Given the description of an element on the screen output the (x, y) to click on. 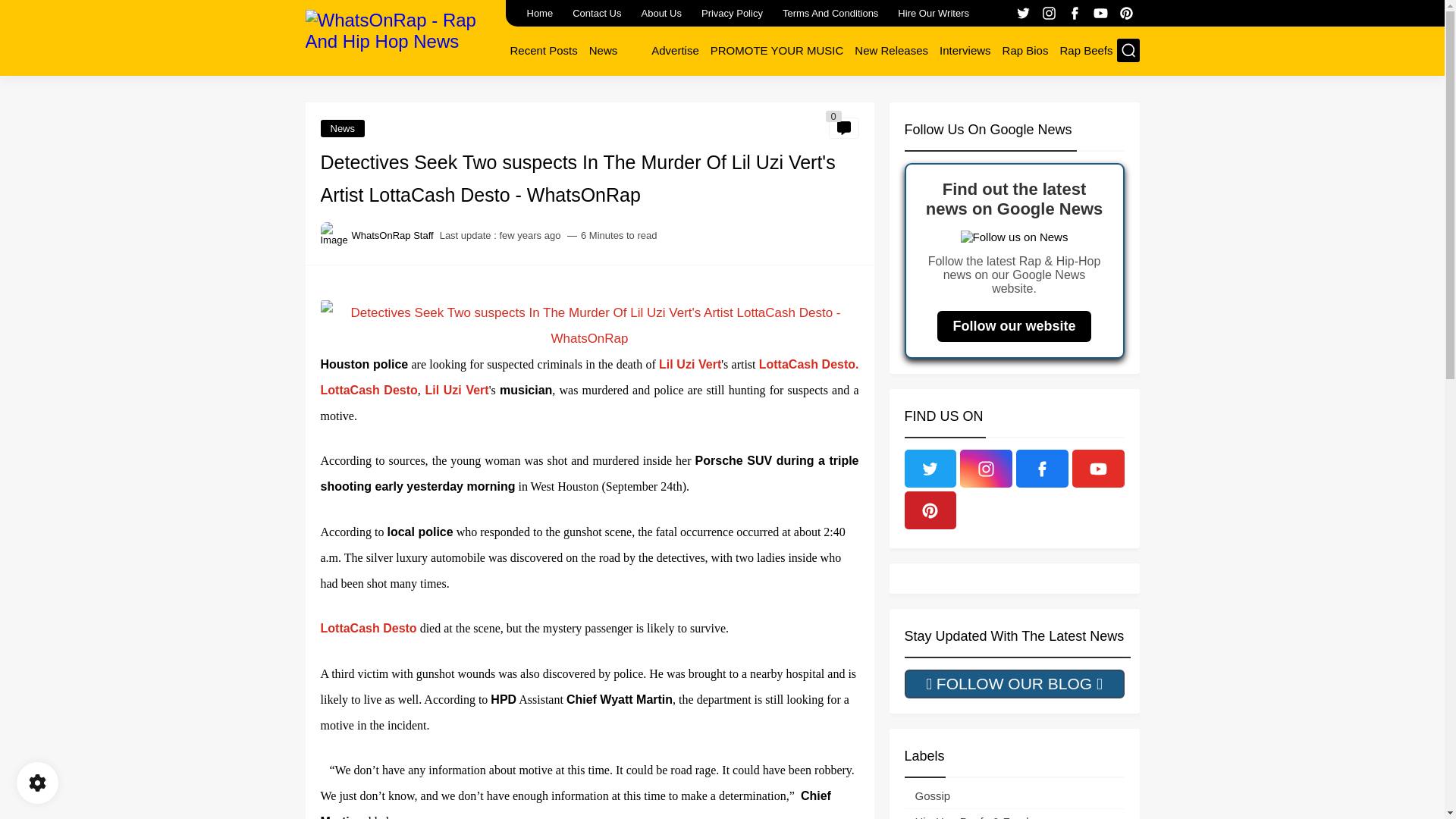
WhatsOnRap - Rap And Hip Hop News (399, 36)
Terms And Conditions (829, 12)
Home (539, 12)
Recent Posts (542, 50)
About Us (660, 12)
Advertise (674, 50)
Hire Our Writers (933, 12)
PROMOTE YOUR MUSIC (777, 50)
PROMOTE YOUR MUSIC (777, 50)
Rap Bios (1025, 50)
0 (843, 127)
Advertise (674, 50)
Interviews (965, 50)
Interviews (965, 50)
News (342, 128)
